Given the description of an element on the screen output the (x, y) to click on. 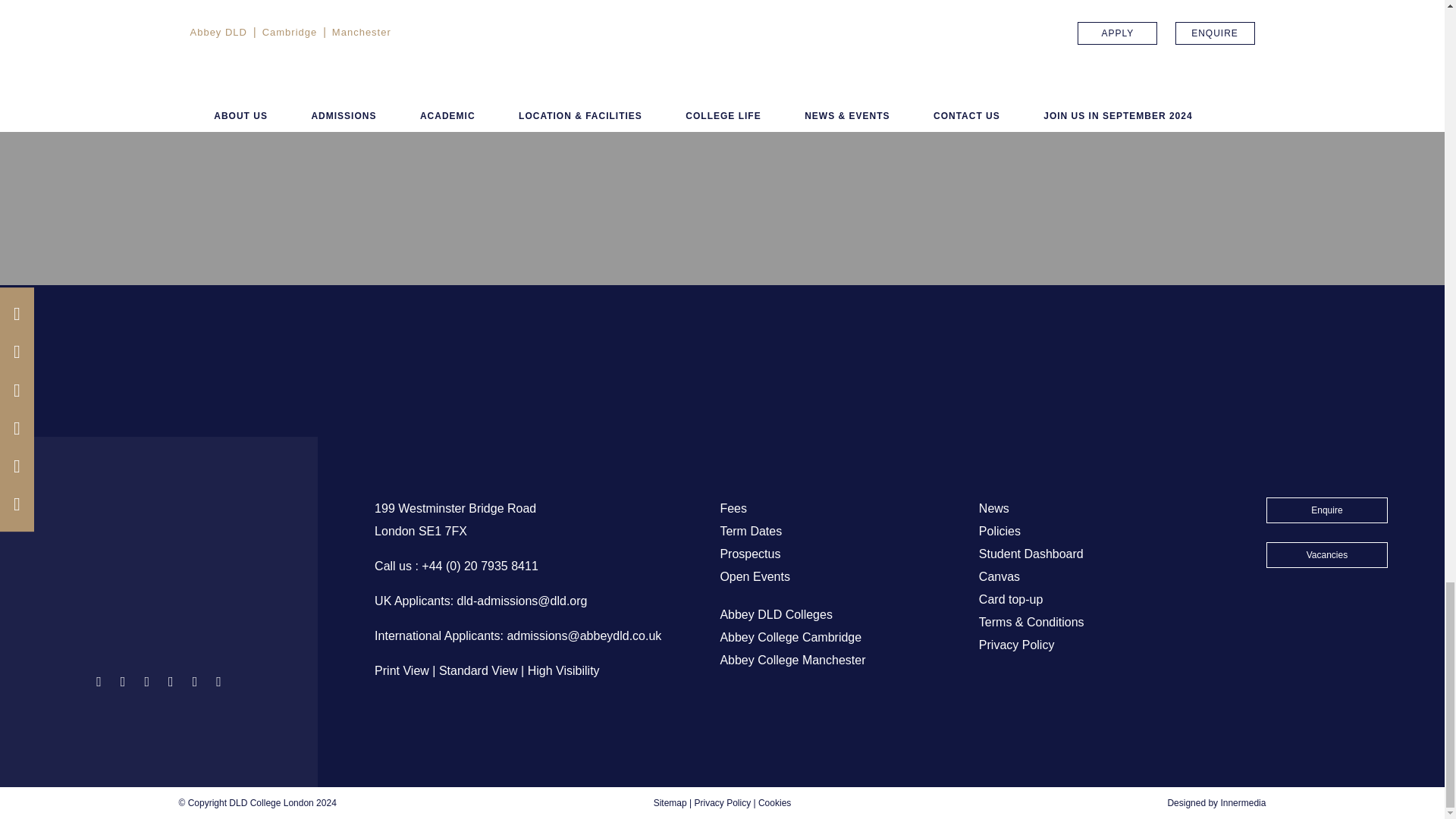
Switch to Standard Visibility (478, 670)
Switch to Print (401, 670)
Switch to High Visibility (563, 670)
